Given the description of an element on the screen output the (x, y) to click on. 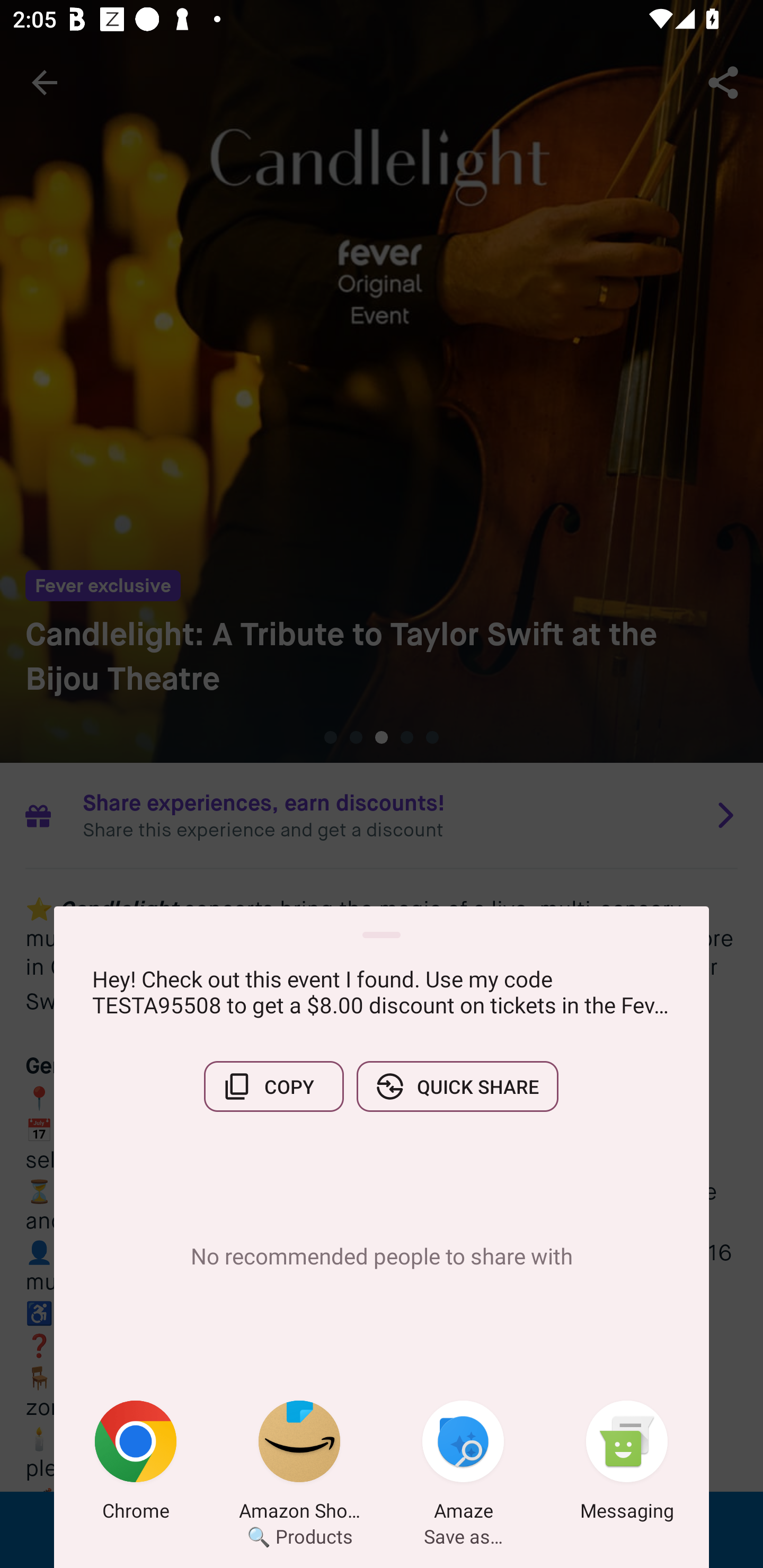
COPY (273, 1086)
QUICK SHARE (457, 1086)
Chrome (135, 1463)
Amazon Shopping 🔍 Products (299, 1463)
Amaze Save as… (463, 1463)
Messaging (626, 1463)
